Given the description of an element on the screen output the (x, y) to click on. 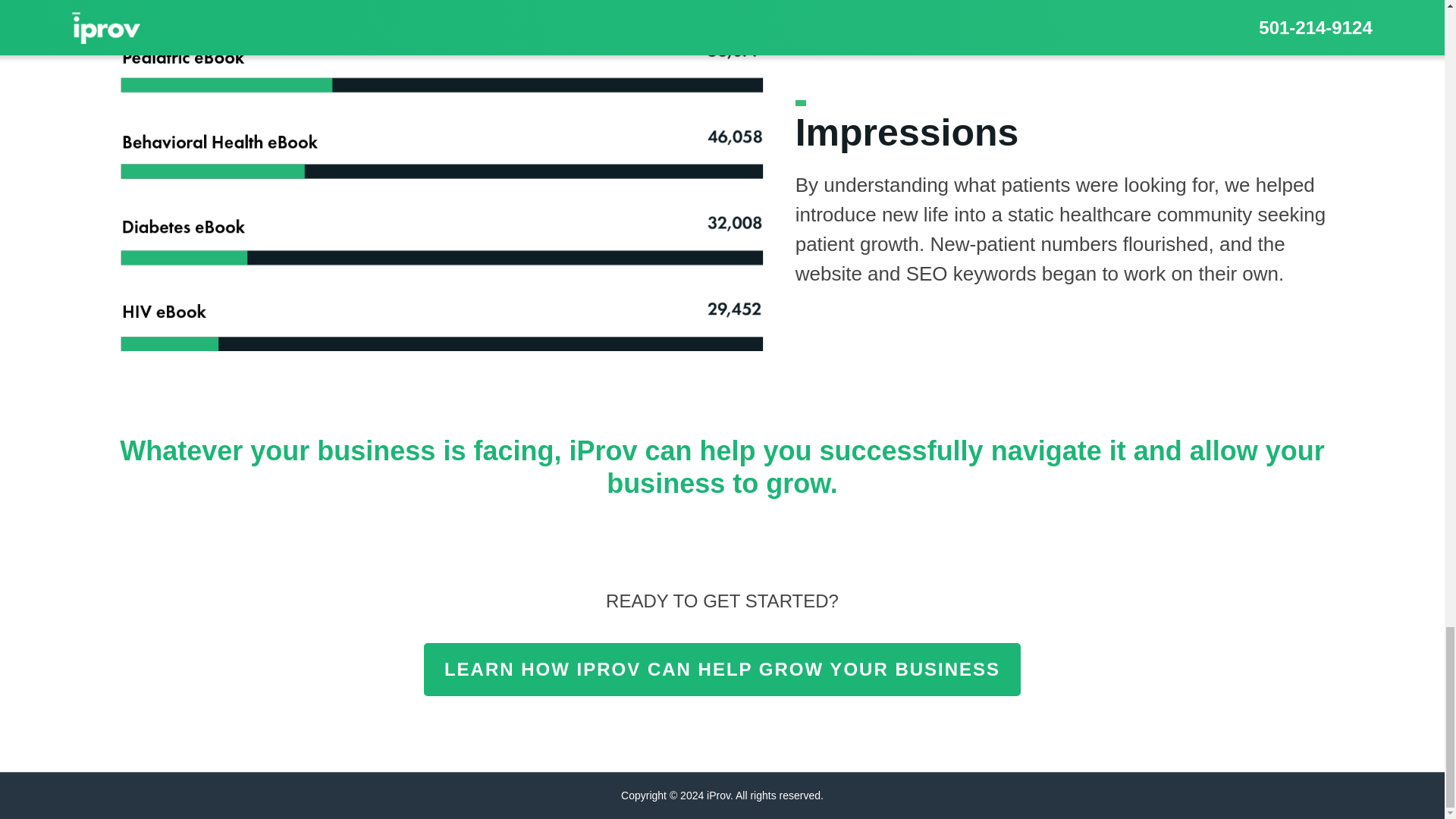
LEARN HOW IPROV CAN HELP GROW YOUR BUSINESS (721, 669)
